Given the description of an element on the screen output the (x, y) to click on. 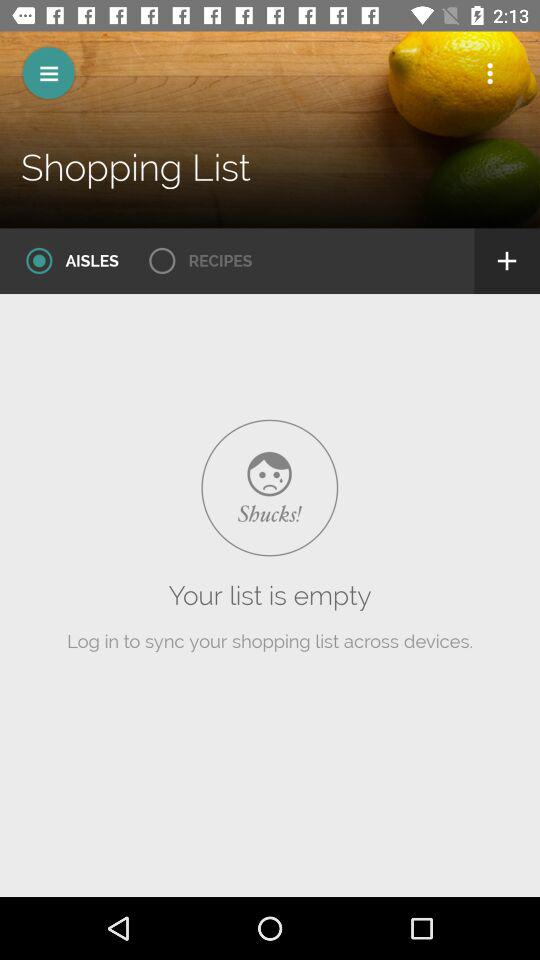
open app options (490, 73)
